Given the description of an element on the screen output the (x, y) to click on. 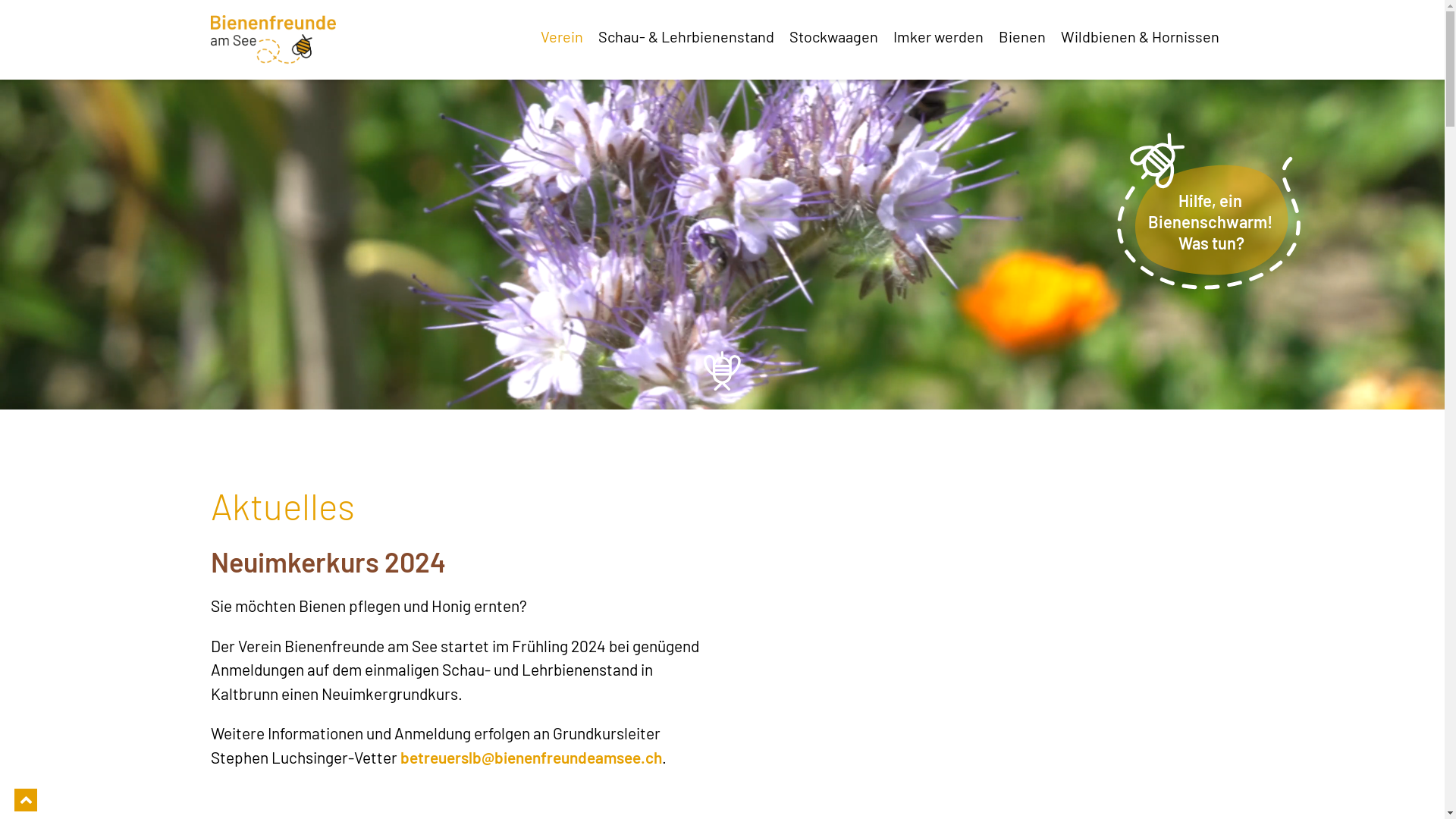
Bienen Element type: text (1028, 36)
betreuerslb@bienenfreundeamsee.ch Element type: text (531, 756)
Schau- & Lehrbienenstand Element type: text (692, 36)
Wildbienen & Hornissen Element type: text (1146, 36)
Imker werden Element type: text (945, 36)
Verein Element type: text (568, 36)
Stockwaagen Element type: text (840, 36)
Hilfe, ein Bienenschwarm! Was tun? Element type: text (1208, 205)
